Given the description of an element on the screen output the (x, y) to click on. 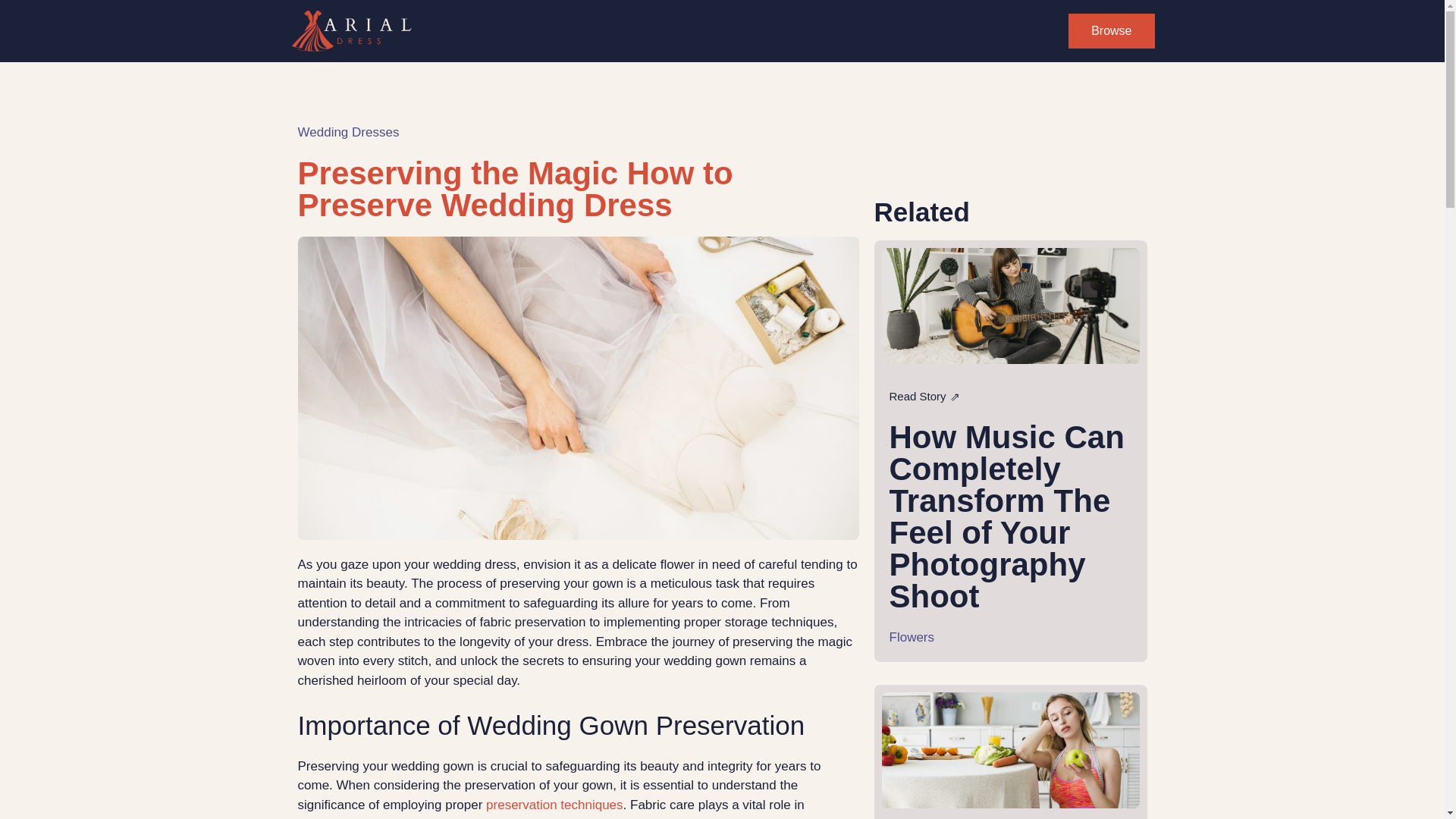
Flowers (911, 636)
Wedding Dresses (348, 132)
preservation techniques (554, 804)
Browse (1111, 30)
